Given the description of an element on the screen output the (x, y) to click on. 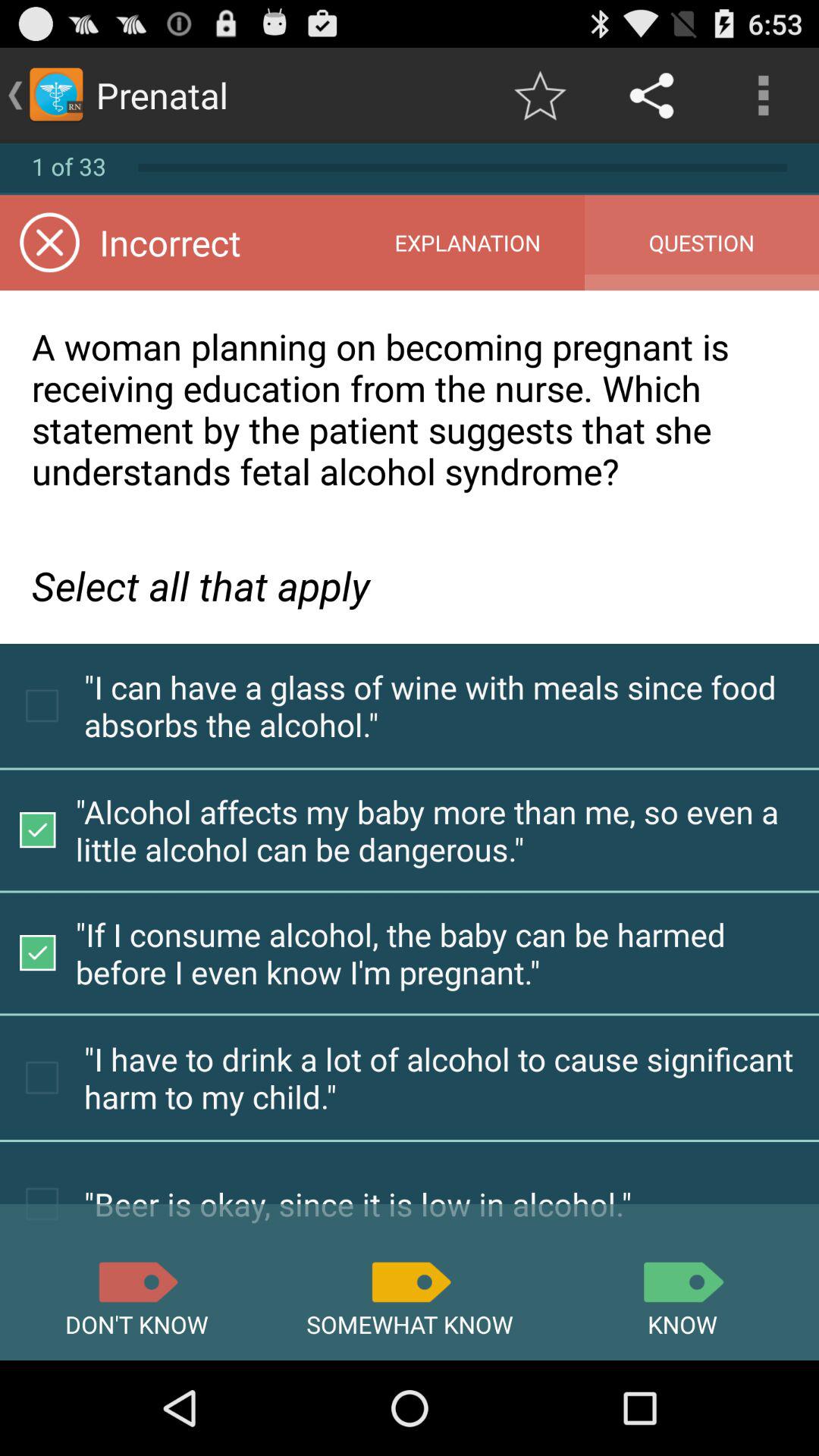
assign option (136, 1281)
